Given the description of an element on the screen output the (x, y) to click on. 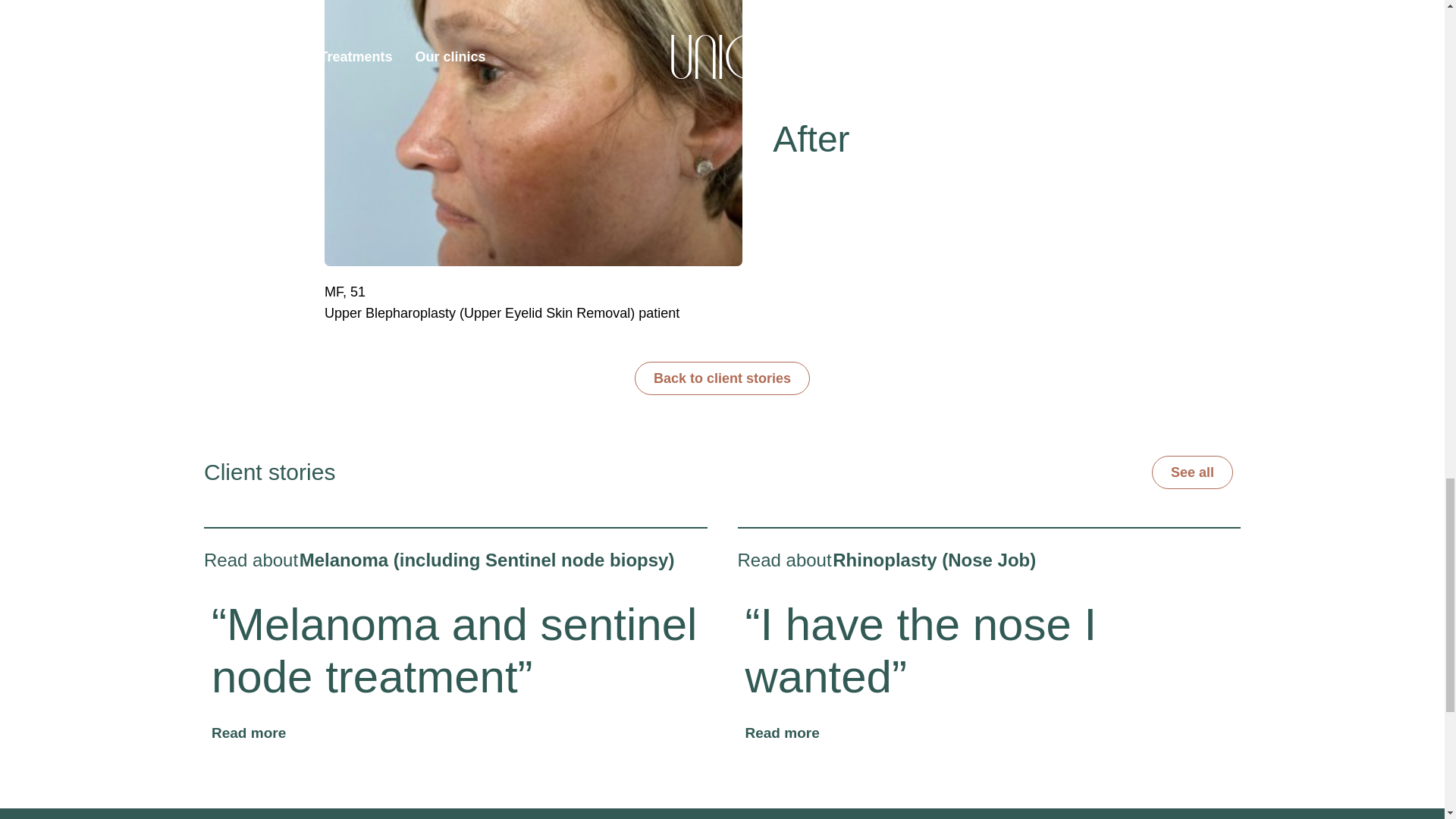
See all (1192, 471)
Back to client stories (721, 377)
Read more (781, 732)
Read more (248, 732)
